Given the description of an element on the screen output the (x, y) to click on. 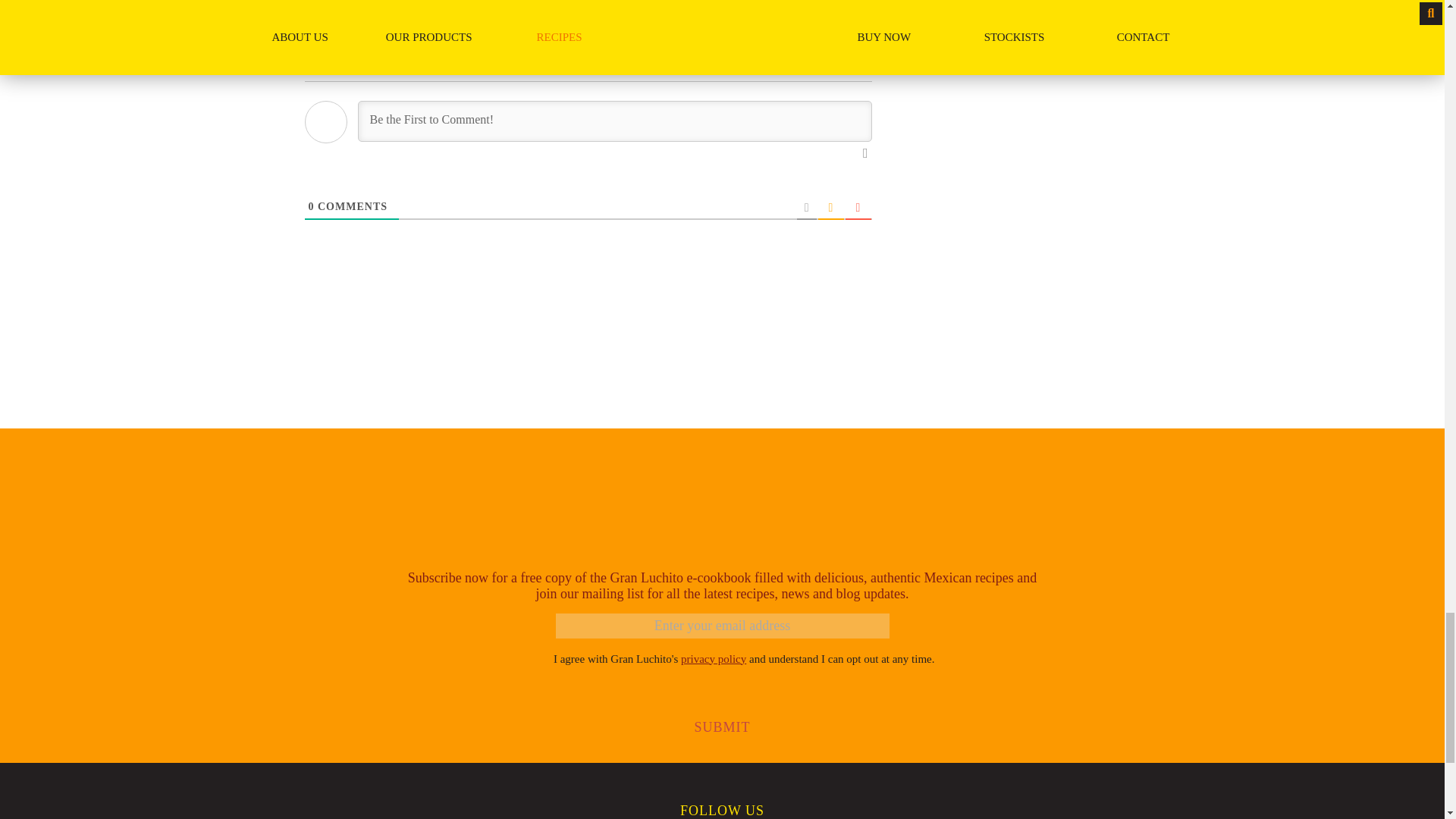
Submit (722, 727)
